Given the description of an element on the screen output the (x, y) to click on. 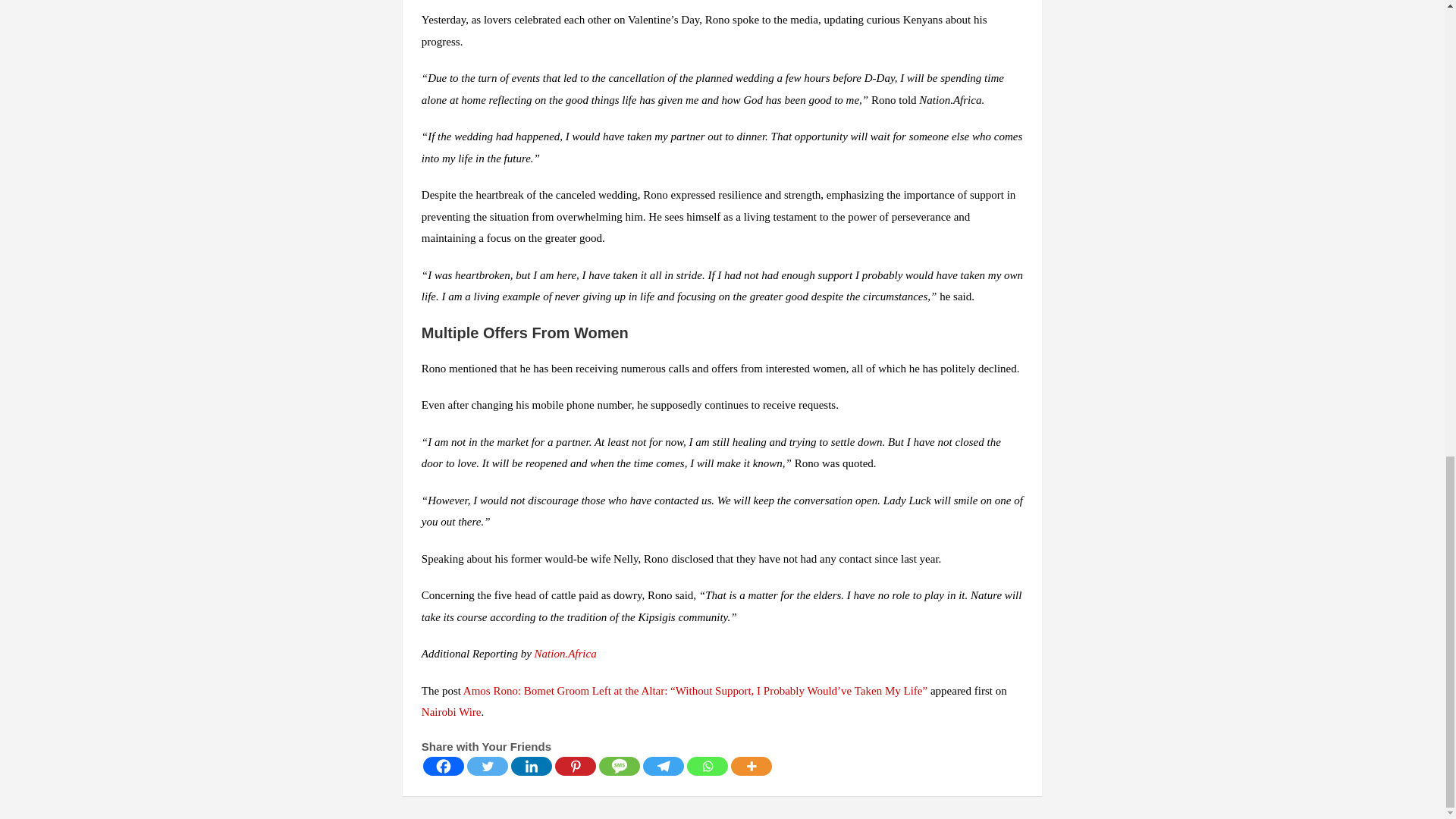
Telegram (663, 765)
Pinterest (574, 765)
More (750, 765)
Nairobi Wire (451, 711)
Twitter (487, 765)
Nation.Africa (565, 653)
Whatsapp (707, 765)
Facebook (443, 765)
SMS (619, 765)
Linkedin (531, 765)
